Given the description of an element on the screen output the (x, y) to click on. 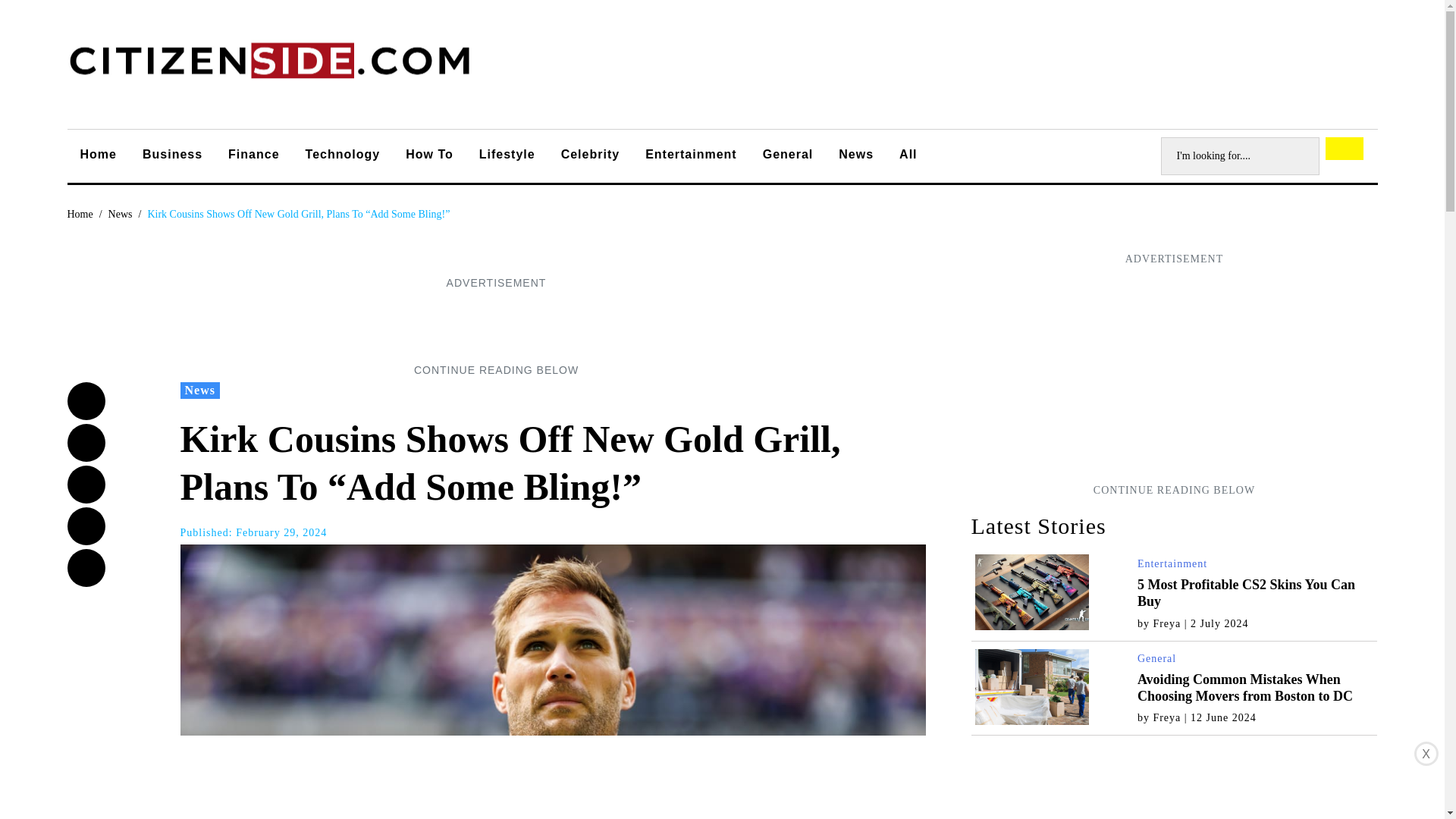
How To (429, 156)
Share on Pinterest (85, 567)
Home (79, 214)
Share on LinkedIn (85, 525)
5 Most Profitable CS2 Skins You Can Buy (1246, 593)
Entertainment (690, 156)
Lifestyle (506, 156)
News (199, 390)
Entertainment (1172, 563)
Home (97, 156)
